Given the description of an element on the screen output the (x, y) to click on. 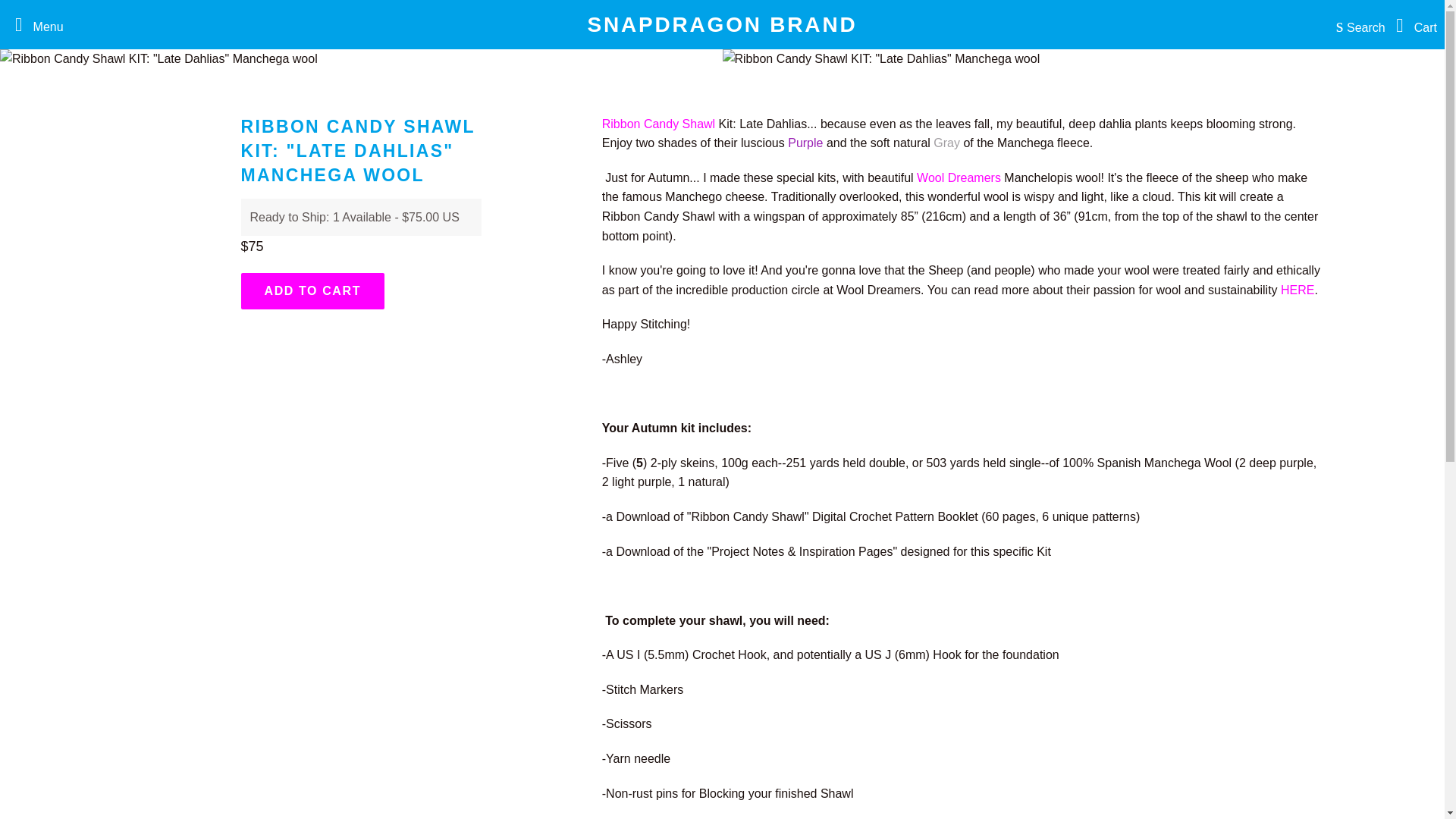
Wool Dreamers (959, 177)
SNAPDRAGON BRAND (722, 24)
Ribbon Candy Shawl (658, 123)
ADD TO CART (313, 290)
Cart (1413, 23)
Wool Dreamer's Ethical Process (959, 177)
HERE (1297, 289)
Menu (35, 24)
Search (1356, 23)
